Given the description of an element on the screen output the (x, y) to click on. 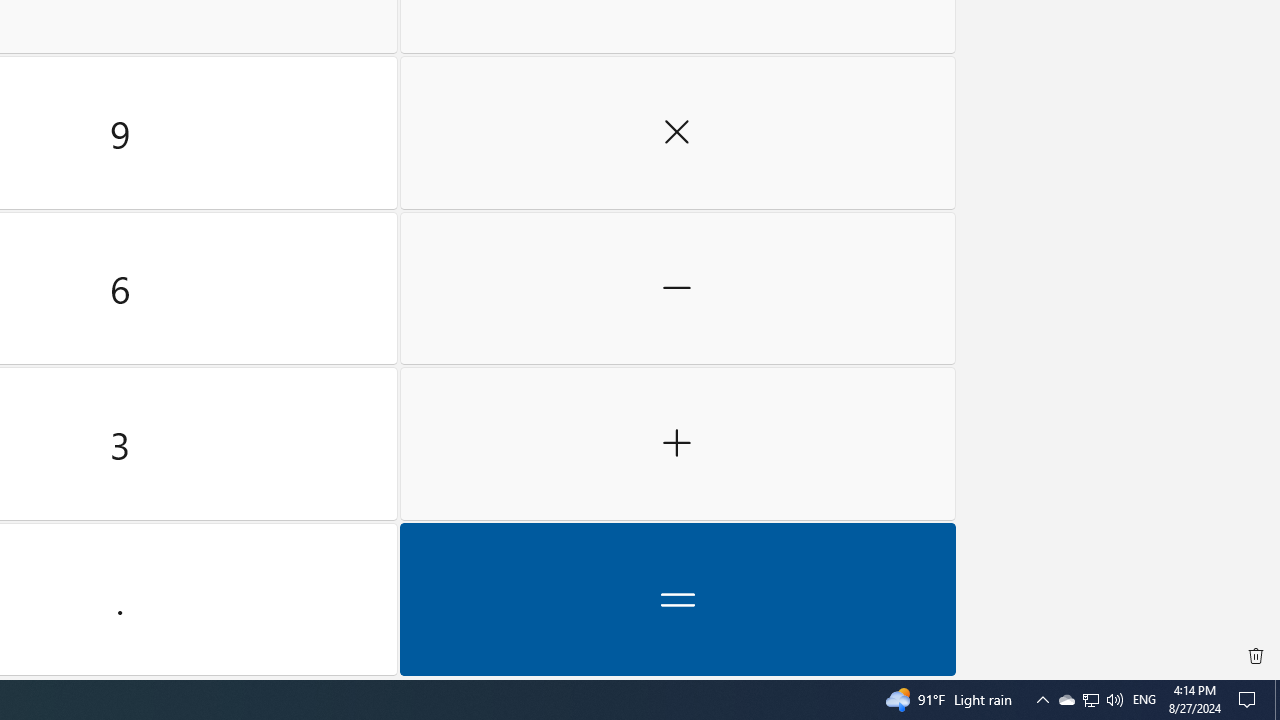
Plus (677, 444)
Q2790: 100% (1114, 699)
User Promoted Notification Area (1090, 699)
Show desktop (1091, 699)
Tray Input Indicator - English (United States) (1277, 699)
Minus (1144, 699)
Multiply by (677, 288)
Clear all history (677, 133)
Notification Chevron (1256, 655)
Equals (1066, 699)
Action Center, No new notifications (1042, 699)
